Given the description of an element on the screen output the (x, y) to click on. 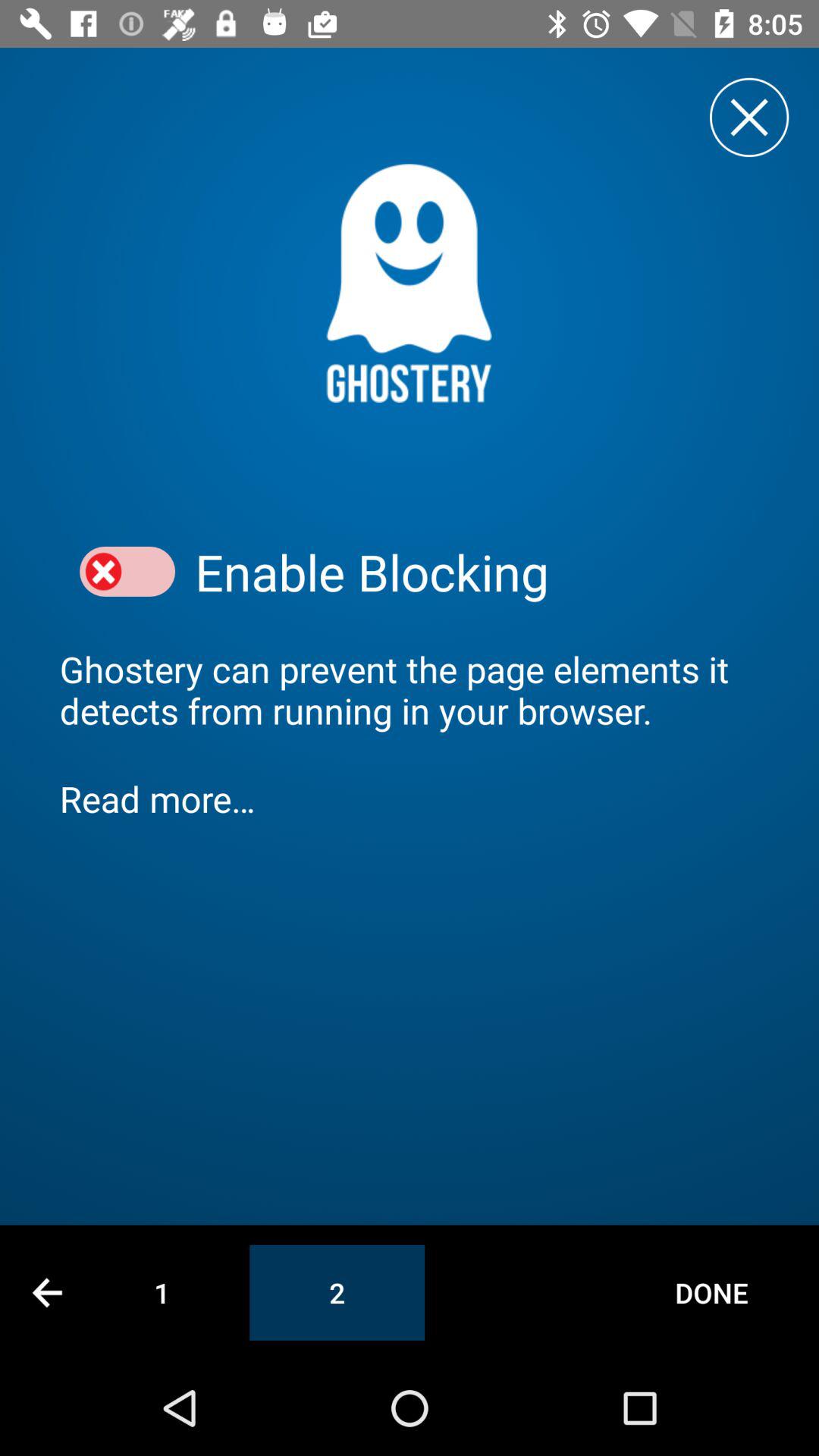
turn on the done (711, 1292)
